Given the description of an element on the screen output the (x, y) to click on. 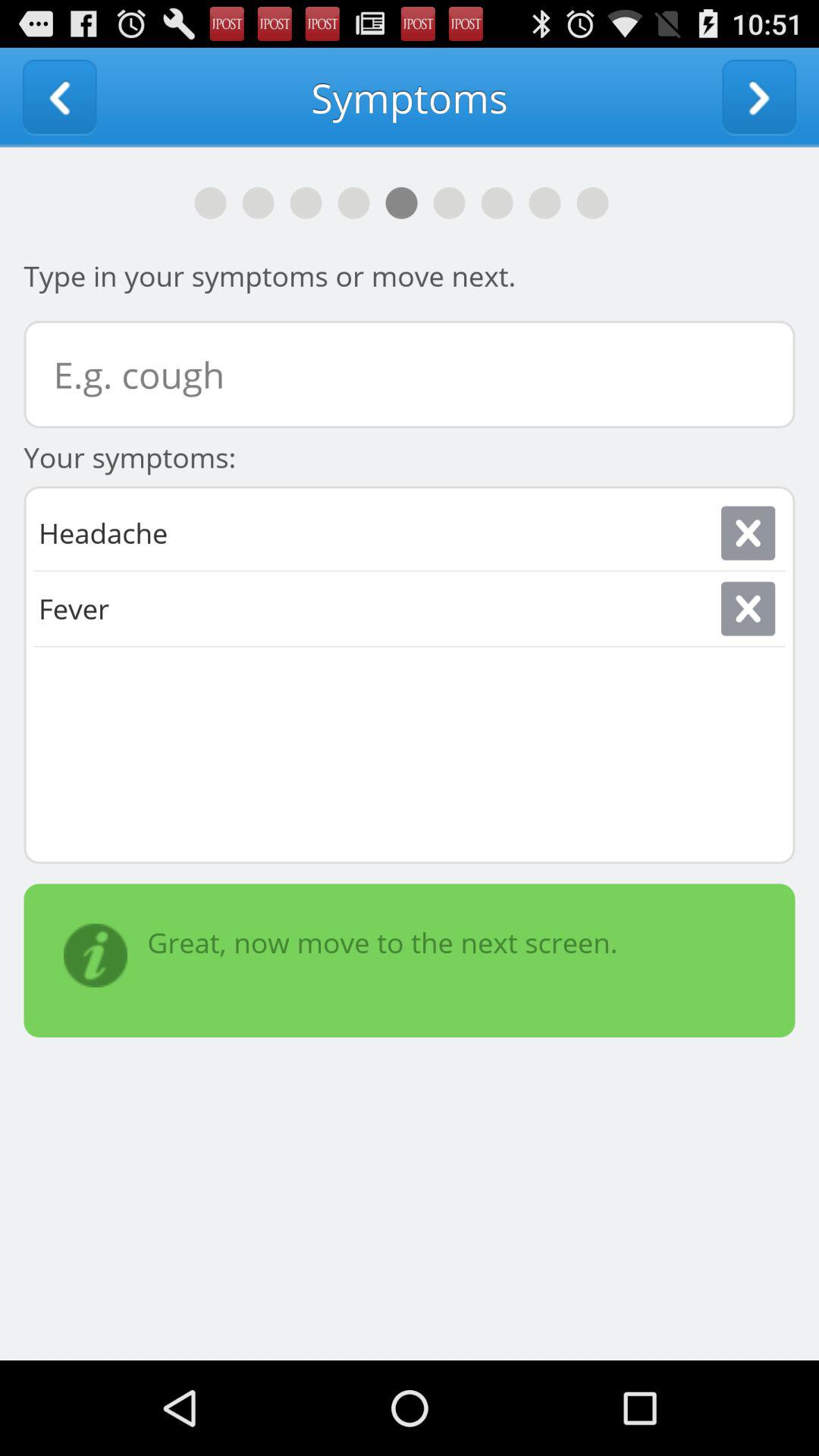
go back (59, 97)
